Given the description of an element on the screen output the (x, y) to click on. 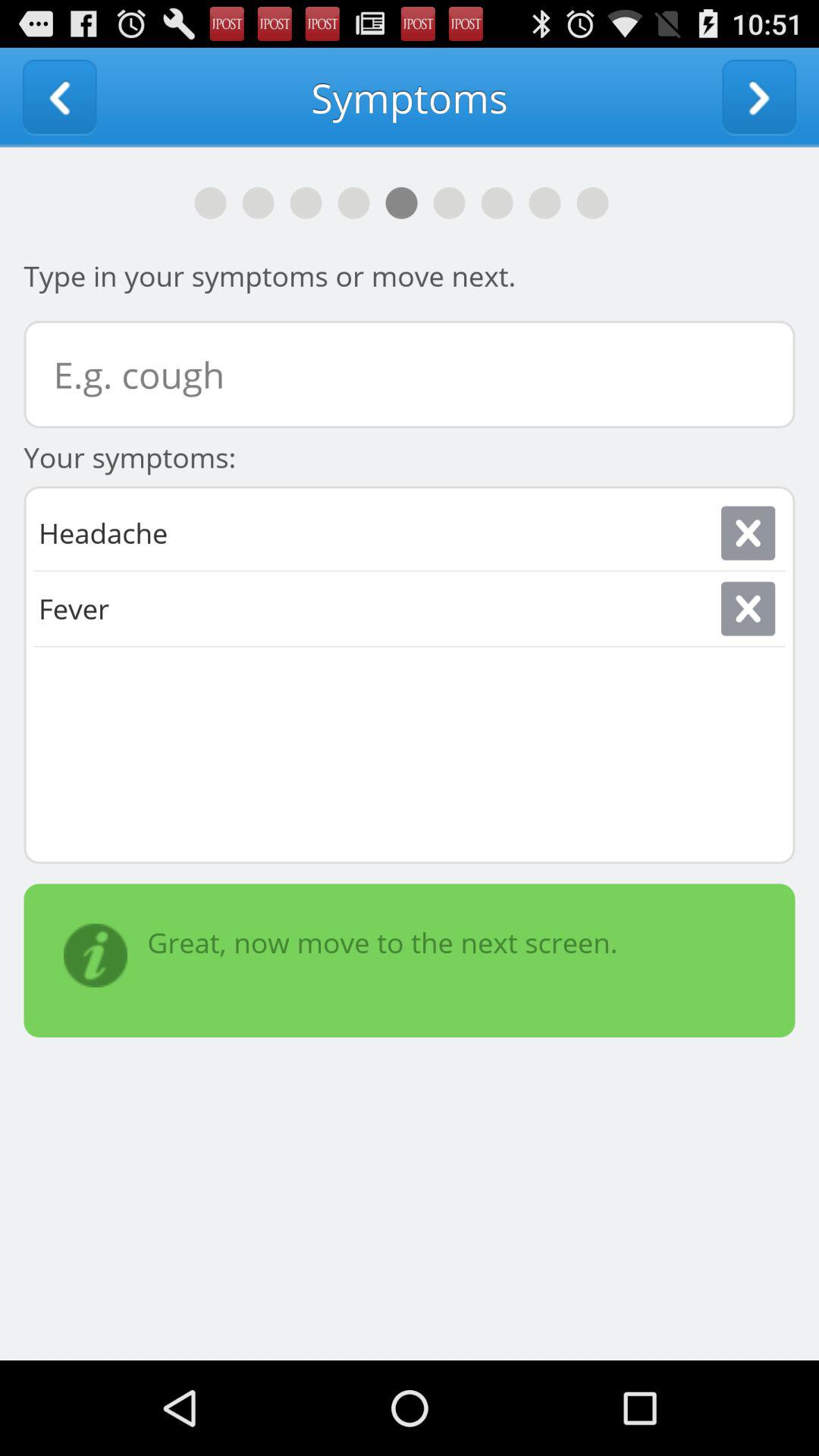
go back (59, 97)
